Given the description of an element on the screen output the (x, y) to click on. 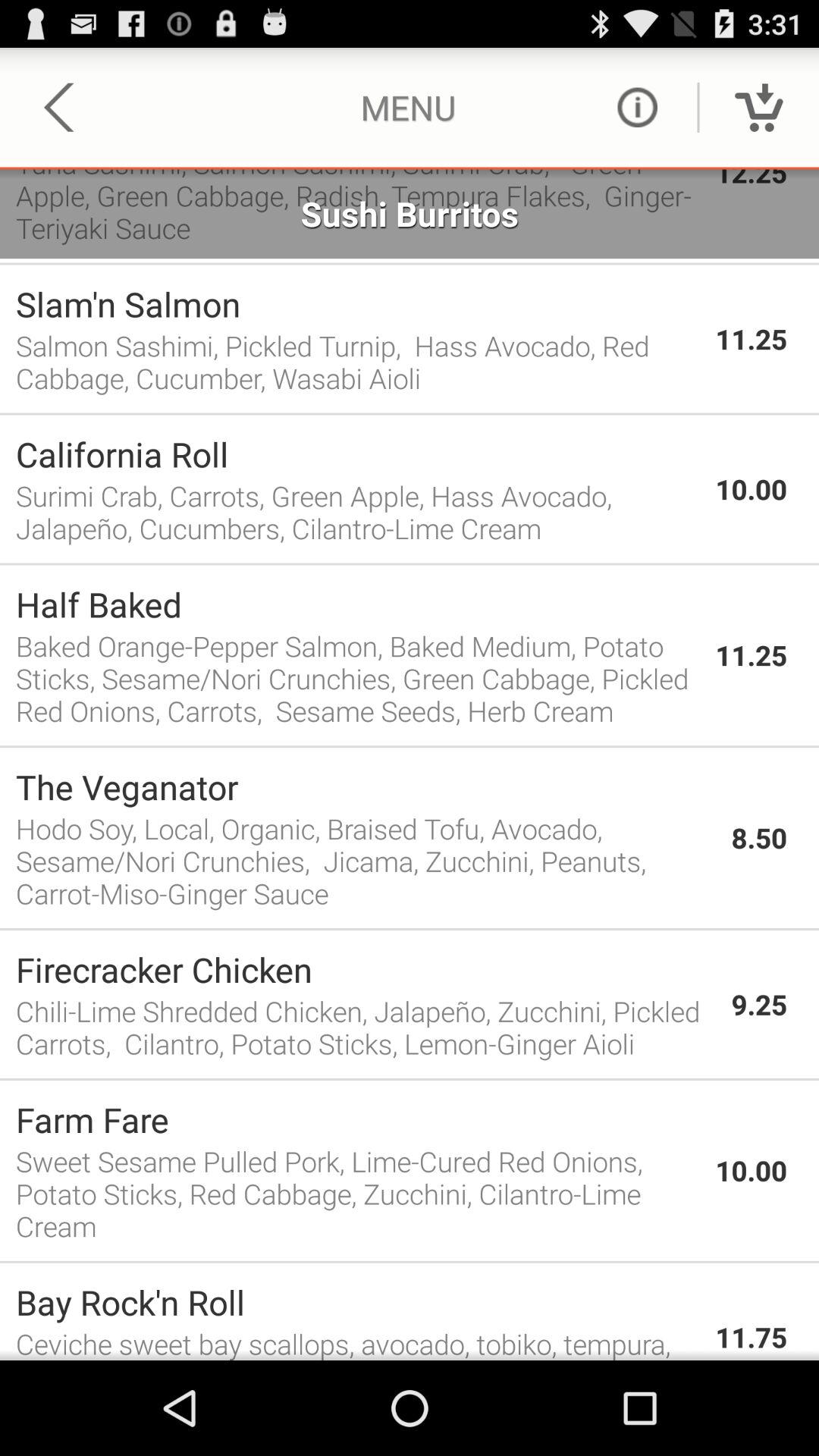
turn off ceviche sweet bay app (357, 1342)
